Given the description of an element on the screen output the (x, y) to click on. 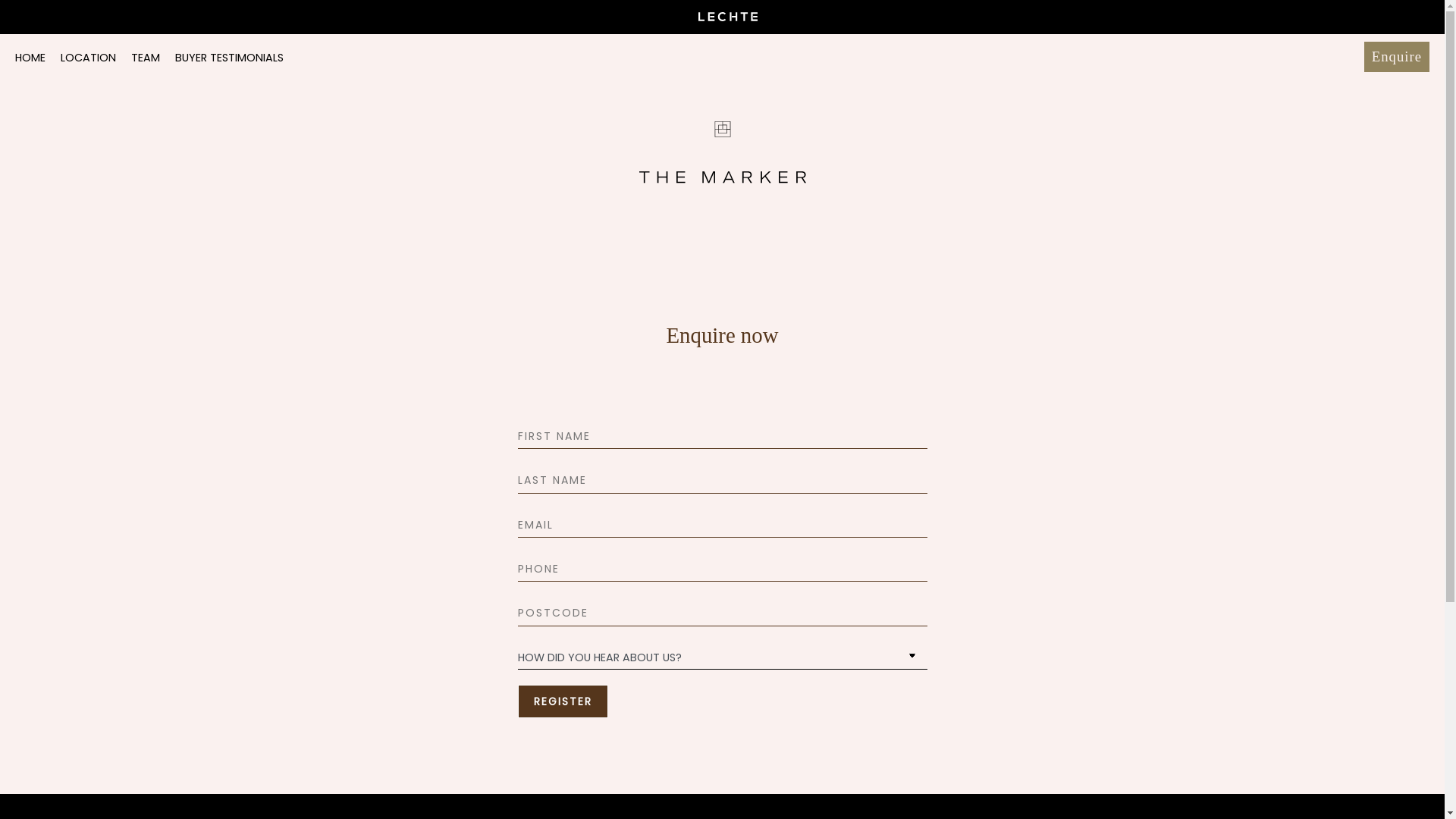
HOME Element type: text (30, 57)
LOCATION Element type: text (88, 57)
BUYER TESTIMONIALS Element type: text (229, 57)
REGISTER Element type: text (562, 701)
Enquire Element type: text (1396, 56)
TEAM Element type: text (145, 57)
